Given the description of an element on the screen output the (x, y) to click on. 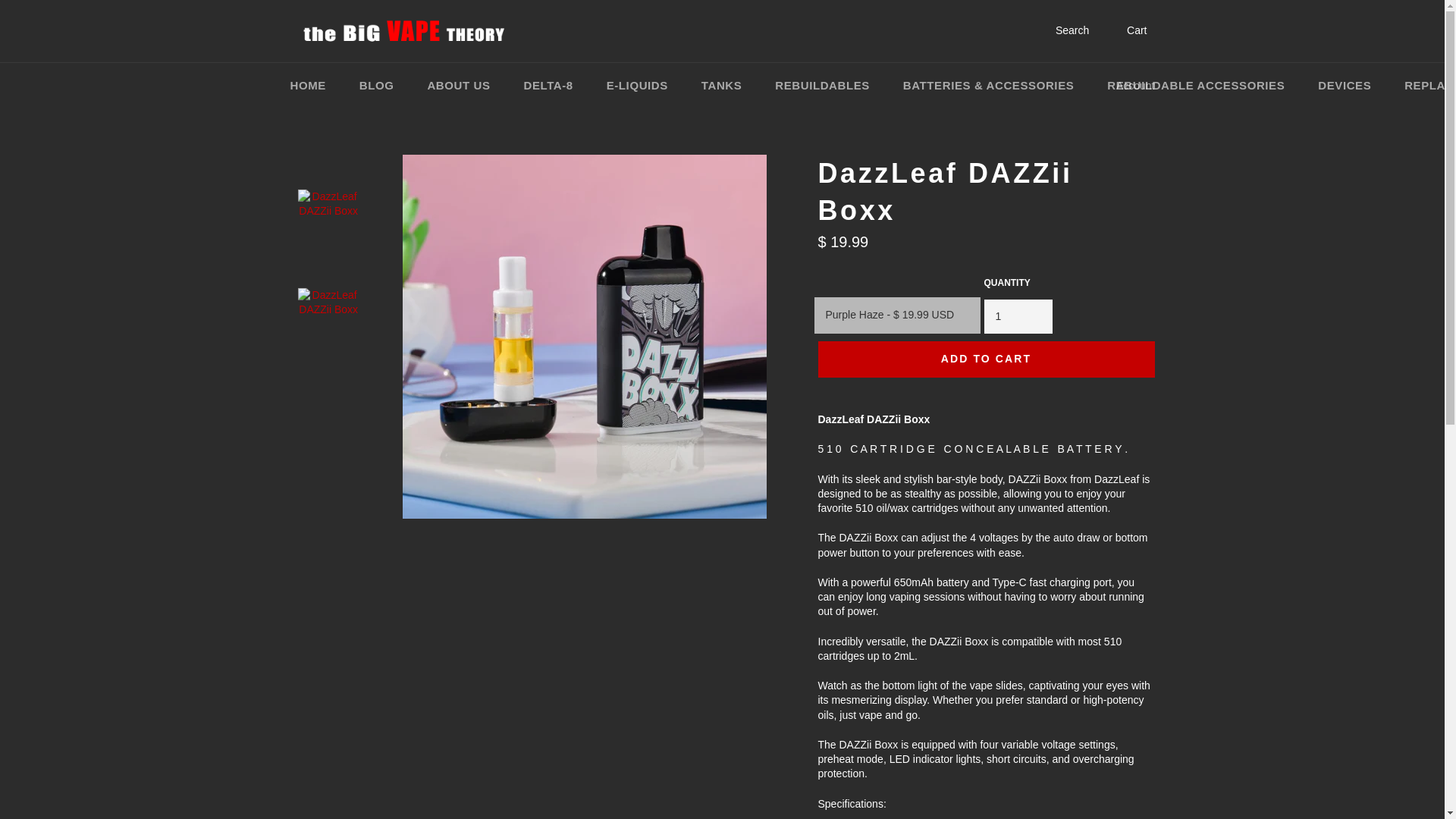
DEVICES (1344, 85)
BLOG (376, 85)
TANKS (721, 85)
1 (1018, 316)
HOME (307, 85)
Cart (1126, 30)
DELTA-8 (548, 85)
REBUILDABLES (822, 85)
Search (1061, 30)
E-LIQUIDS (636, 85)
REBUILDABLE ACCESSORIES (1196, 85)
ABOUT US (458, 85)
